Given the description of an element on the screen output the (x, y) to click on. 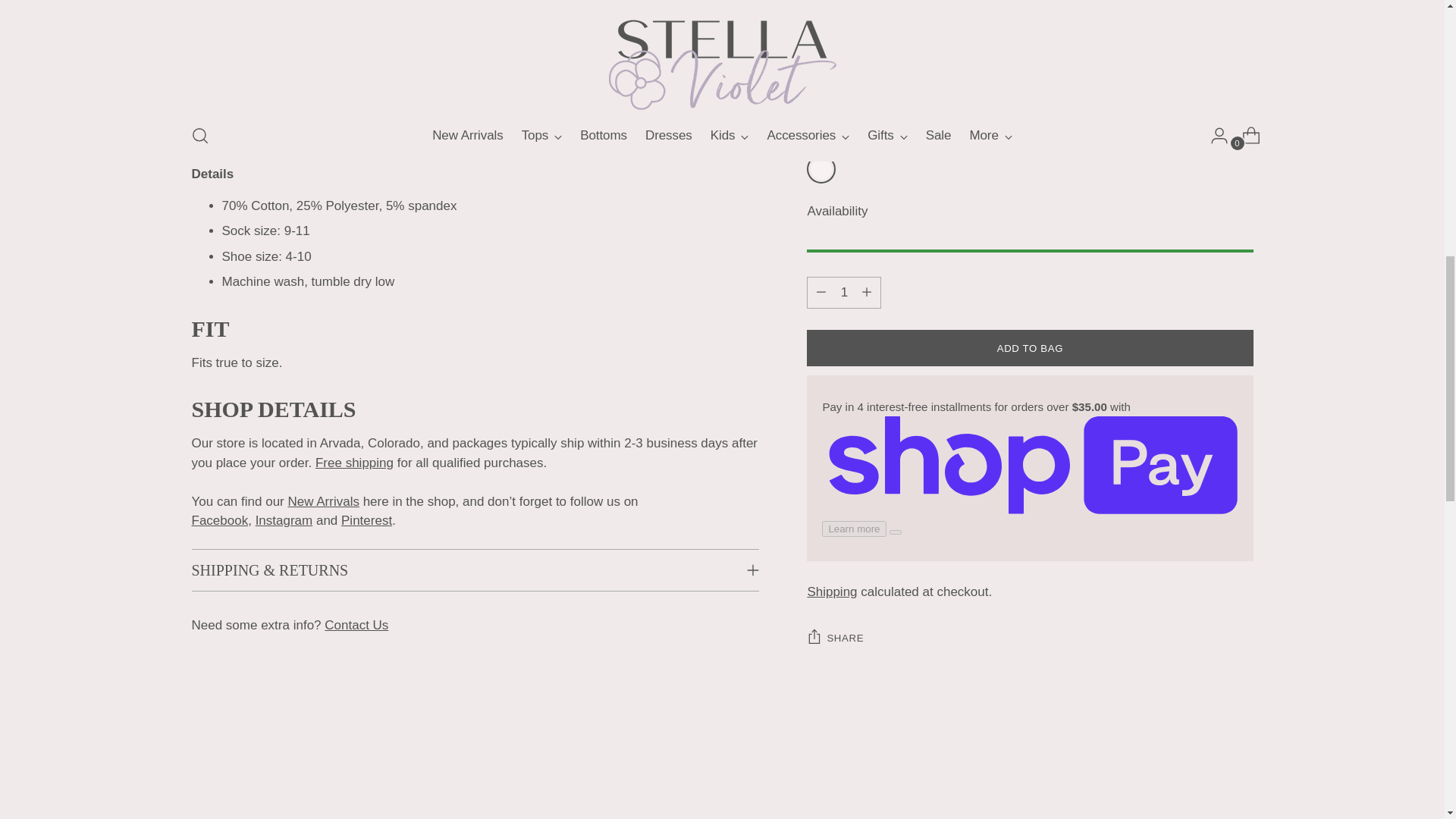
Contact Us (356, 625)
